Given the description of an element on the screen output the (x, y) to click on. 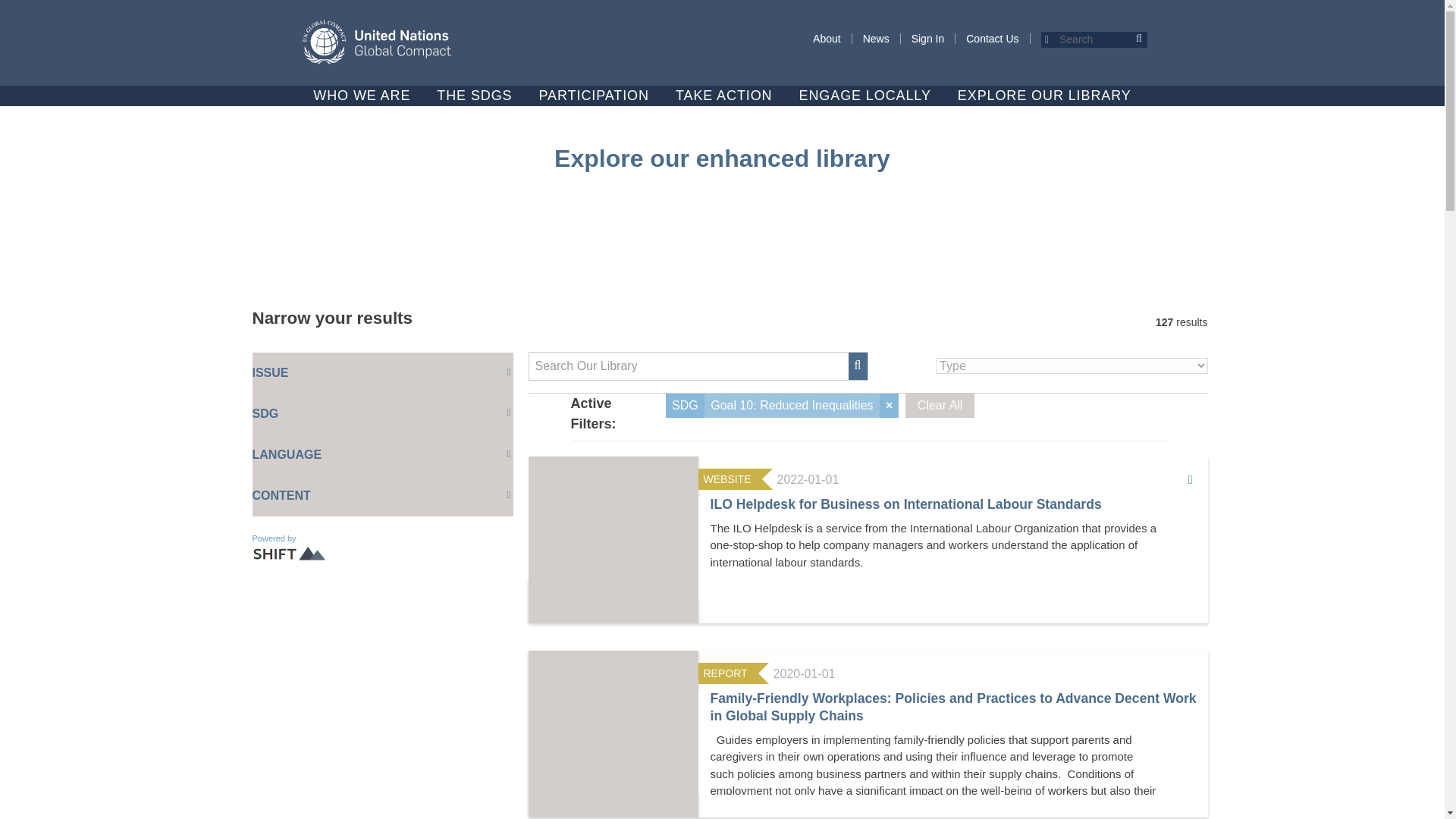
Sign In (928, 38)
Powered by (290, 548)
About (826, 38)
WHO WE ARE (361, 95)
Clear All (940, 405)
News (875, 38)
PARTICIPATION (594, 95)
translation missing: en.website (727, 479)
LANGUAGE (381, 454)
translation missing: en.report (725, 673)
ISSUE (381, 372)
ENGAGE LOCALLY (865, 95)
THE SDGS (474, 95)
